Given the description of an element on the screen output the (x, y) to click on. 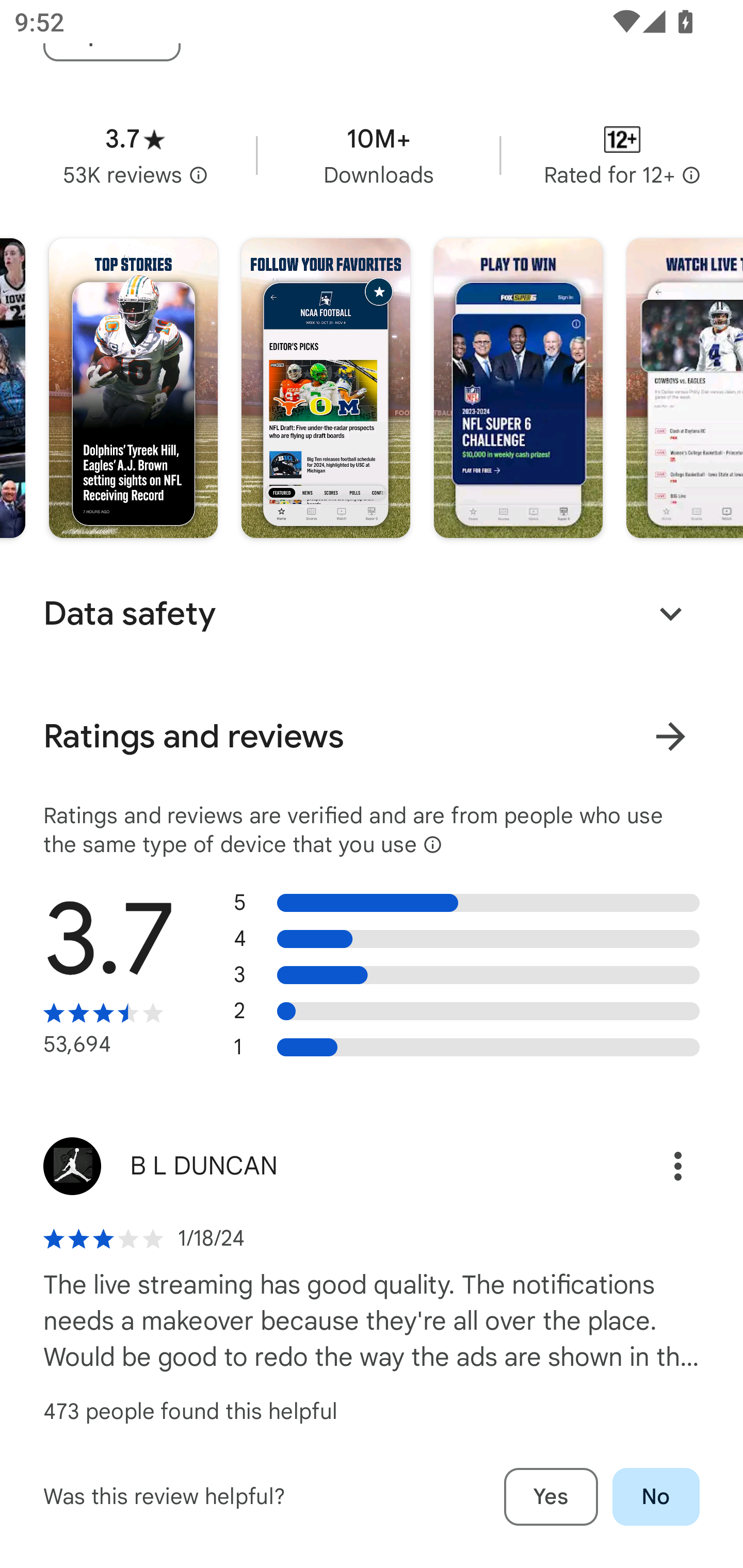
Average rating 3.7 stars in 53 thousand reviews (135, 155)
Content rating Rated for 12+ (622, 155)
Screenshot "1" of "5" (133, 387)
Screenshot "2" of "5" (325, 387)
Screenshot "3" of "5" (517, 387)
Screenshot "4" of "5" (684, 387)
Data safety Expand (371, 613)
Expand (670, 613)
Ratings and reviews View all ratings and reviews (371, 736)
View all ratings and reviews (670, 736)
Options (655, 1165)
Yes (550, 1496)
No (655, 1496)
